Given the description of an element on the screen output the (x, y) to click on. 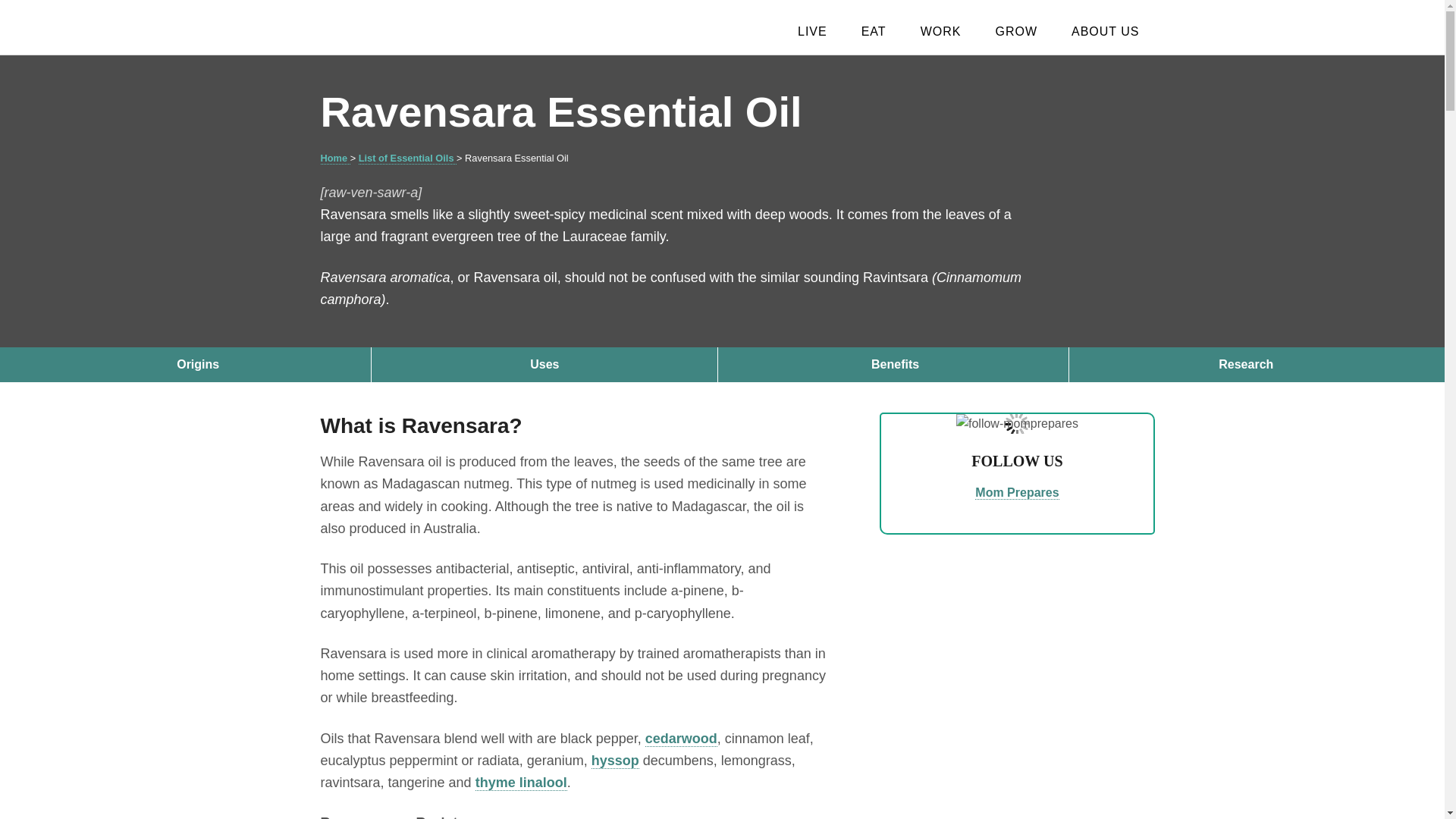
thyme linalool (521, 782)
Origins (197, 364)
WORK (940, 31)
ABOUT US (1105, 31)
cedarwood (681, 738)
Mom Prepares (1016, 492)
GROW (1015, 31)
List of Essential Oils (407, 158)
MOM PREPARES (419, 29)
hyssop (615, 760)
